Given the description of an element on the screen output the (x, y) to click on. 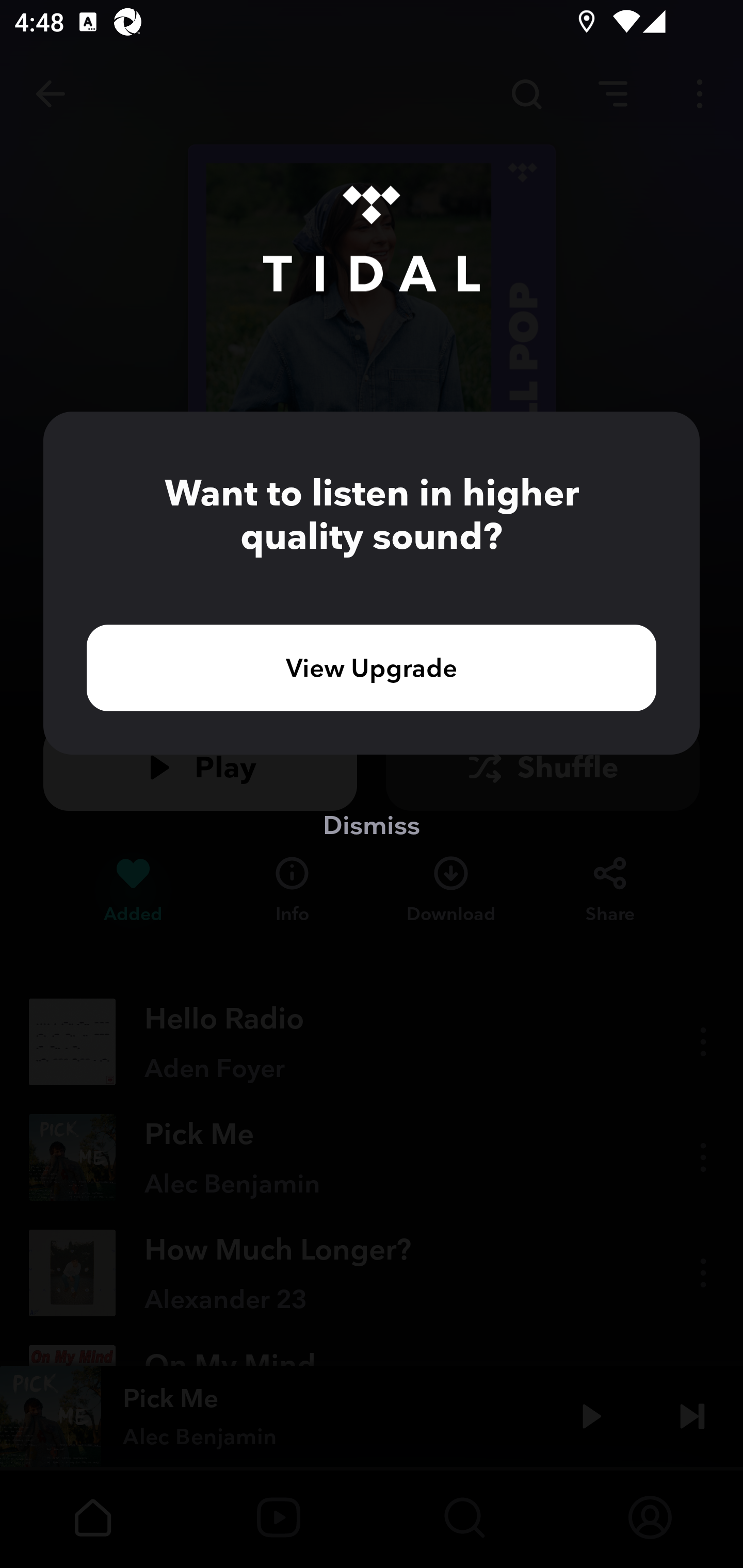
View Upgrade (371, 667)
Dismiss (371, 824)
